Given the description of an element on the screen output the (x, y) to click on. 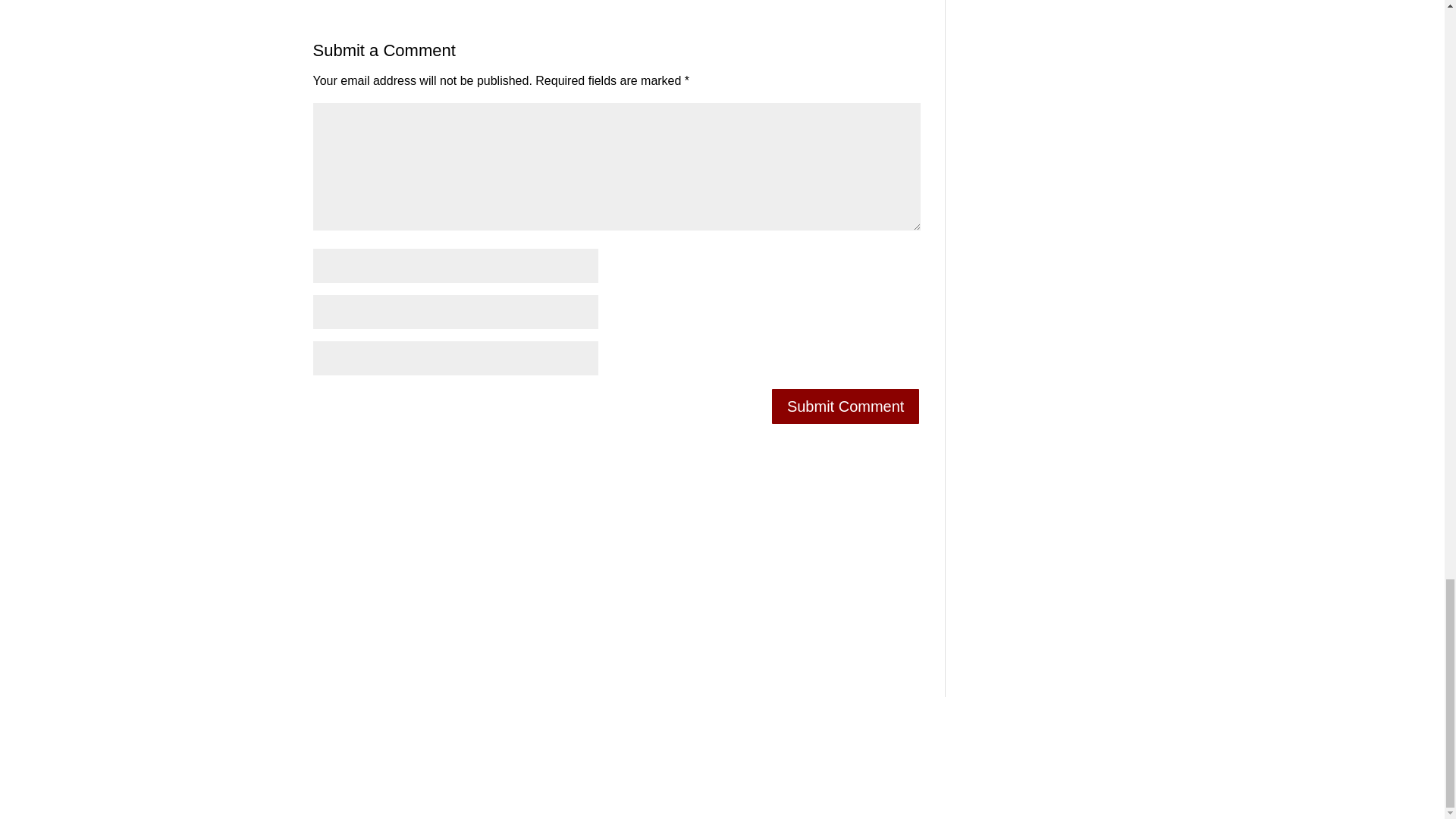
Submit Comment (845, 406)
